Given the description of an element on the screen output the (x, y) to click on. 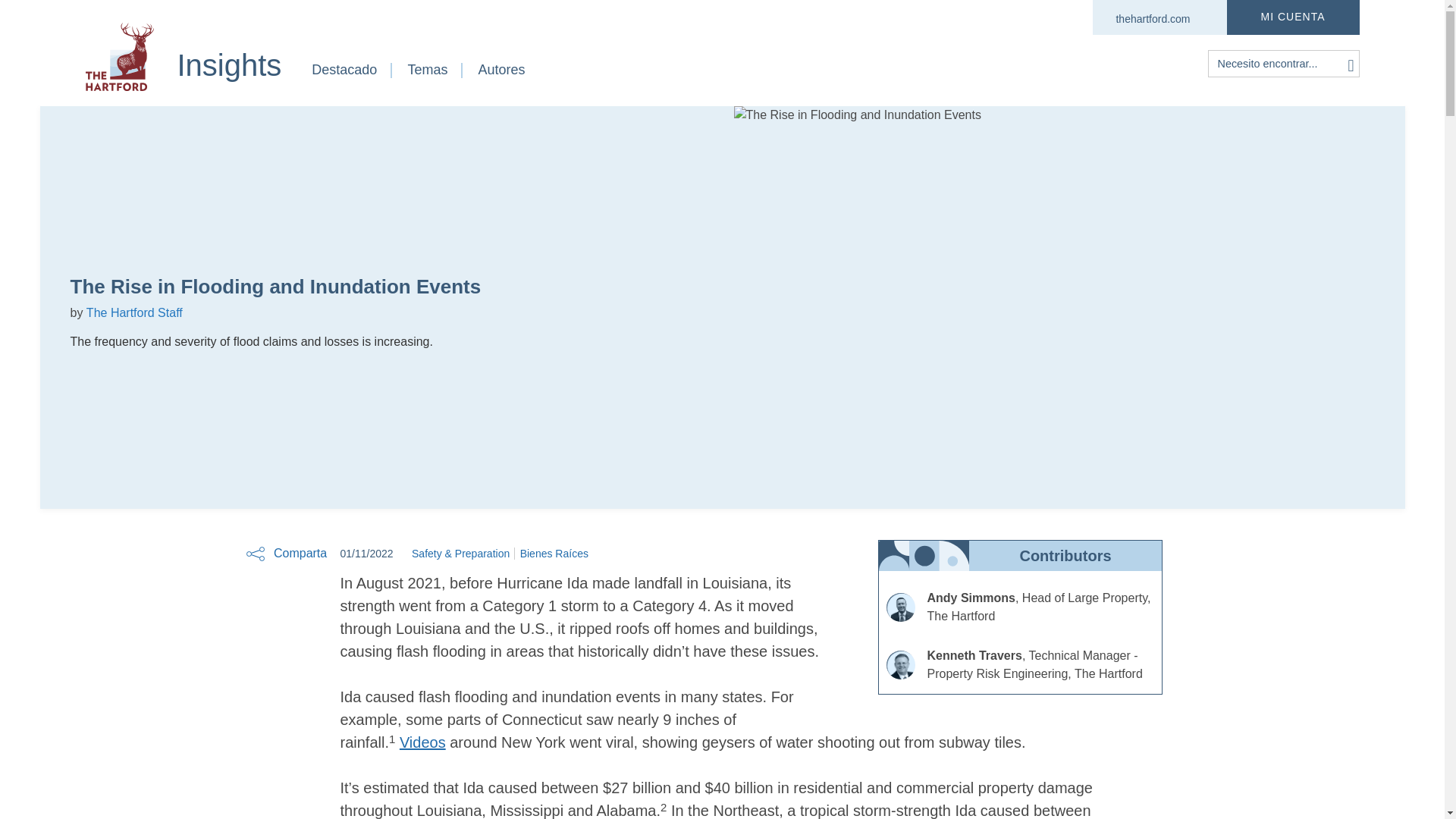
Destacado (344, 77)
The Hartford Staff (134, 312)
thehartford.com (1152, 17)
thehartford.com (1152, 17)
MI CUENTA (831, 77)
Insights (1293, 17)
MI CUENTA (228, 64)
Destacado (1293, 17)
